Given the description of an element on the screen output the (x, y) to click on. 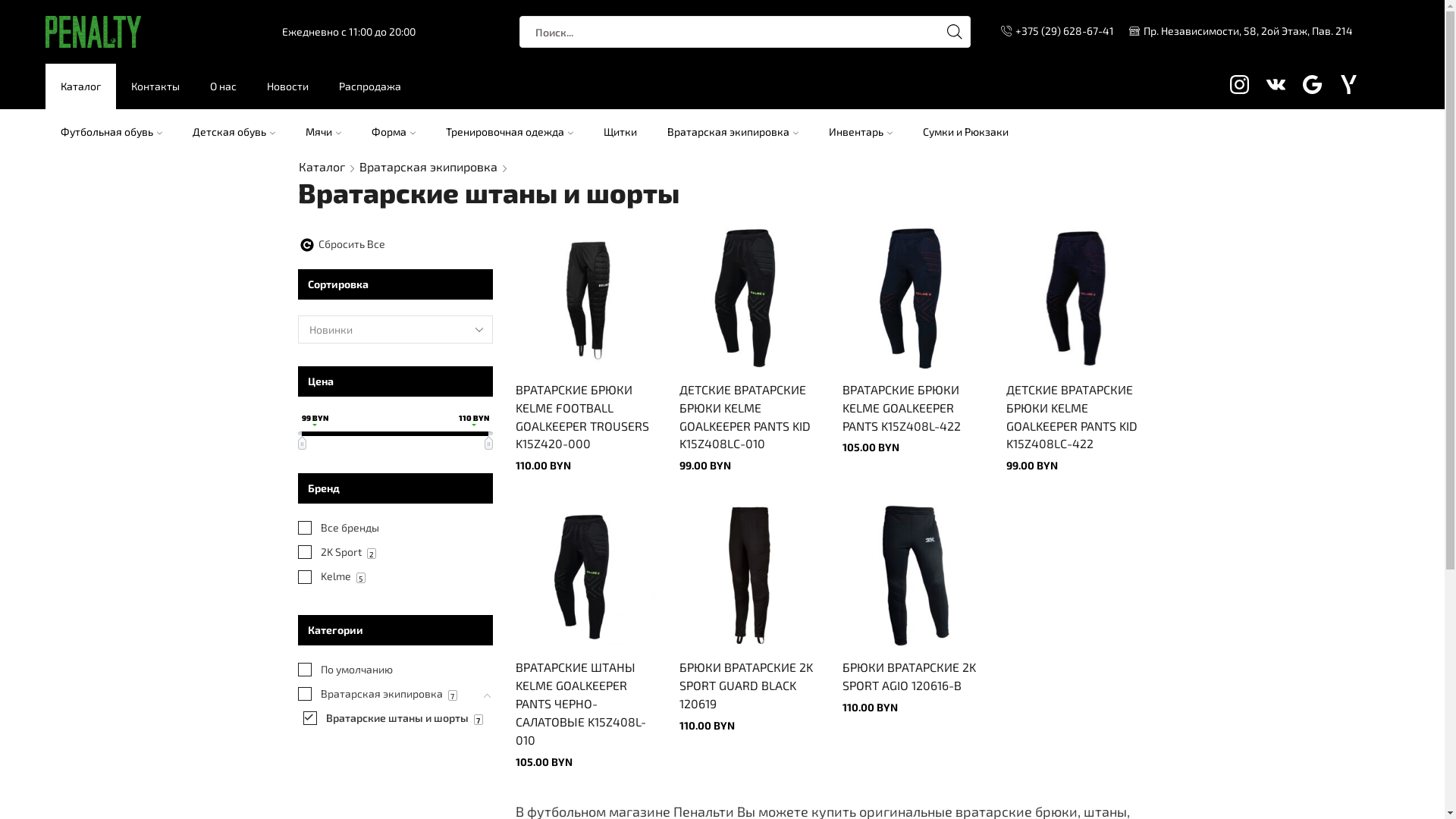
+375 (29) 628-67-41 Element type: text (1057, 30)
